Given the description of an element on the screen output the (x, y) to click on. 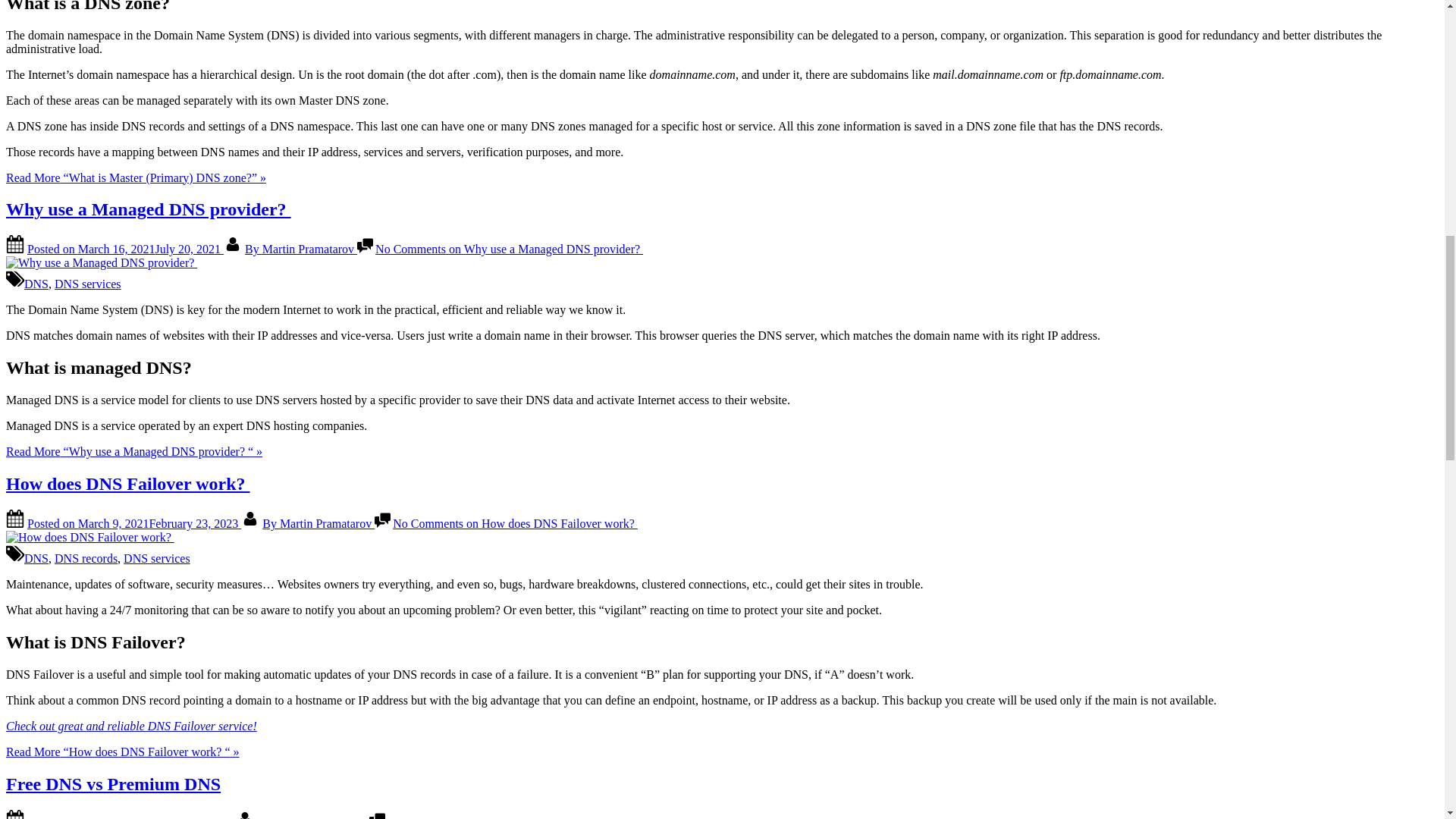
Why use a Managed DNS provider?  (148, 209)
No Comments on Why use a Managed DNS provider?  (509, 248)
By Martin Pramatarov (300, 248)
By Martin Pramatarov (318, 522)
Posted on March 9, 2021February 23, 2023 (134, 522)
DNS (36, 558)
DNS services (87, 283)
How does DNS Failover work?  (127, 483)
DNS (36, 283)
DNS records (86, 558)
